Given the description of an element on the screen output the (x, y) to click on. 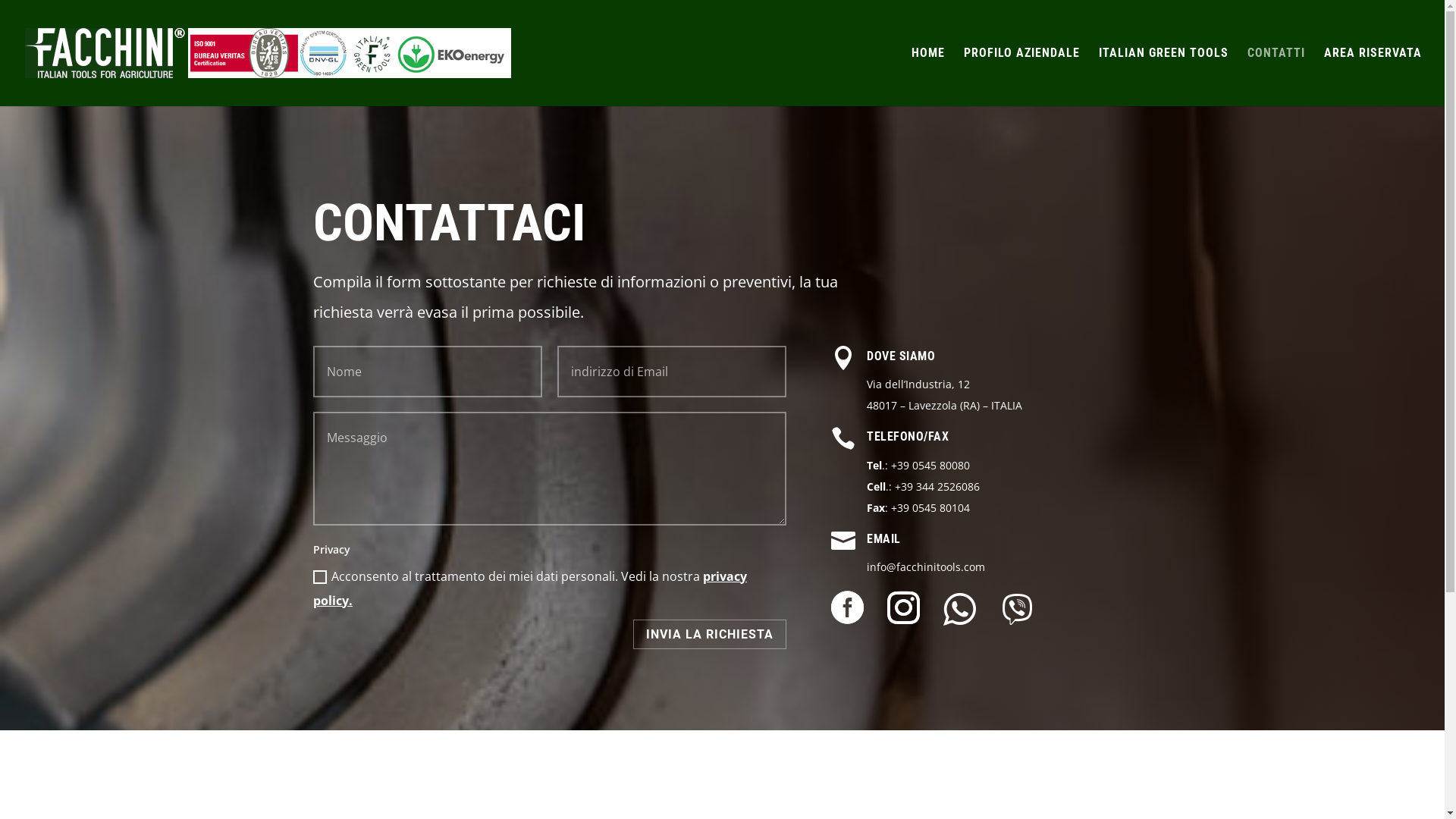
ITALIAN GREEN TOOLS Element type: text (1163, 76)
PROFILO AZIENDALE Element type: text (1021, 76)
AREA RISERVATA Element type: text (1372, 76)
info@facchinitools.com Element type: text (925, 566)
INVIA LA RICHIESTA Element type: text (709, 634)
privacy policy. Element type: text (529, 587)
Scrivici con Viber Element type: hover (1016, 609)
CONTATTI Element type: text (1276, 76)
Segui su Facebook Element type: hover (843, 608)
Scrivici con whatsapp Element type: hover (959, 609)
+39 0545 80080 Element type: text (930, 465)
Segui su Instagram Element type: hover (899, 608)
+39 0545 80104 Element type: text (930, 507)
HOME Element type: text (927, 76)
+39 344 2526086 Element type: text (936, 486)
